Given the description of an element on the screen output the (x, y) to click on. 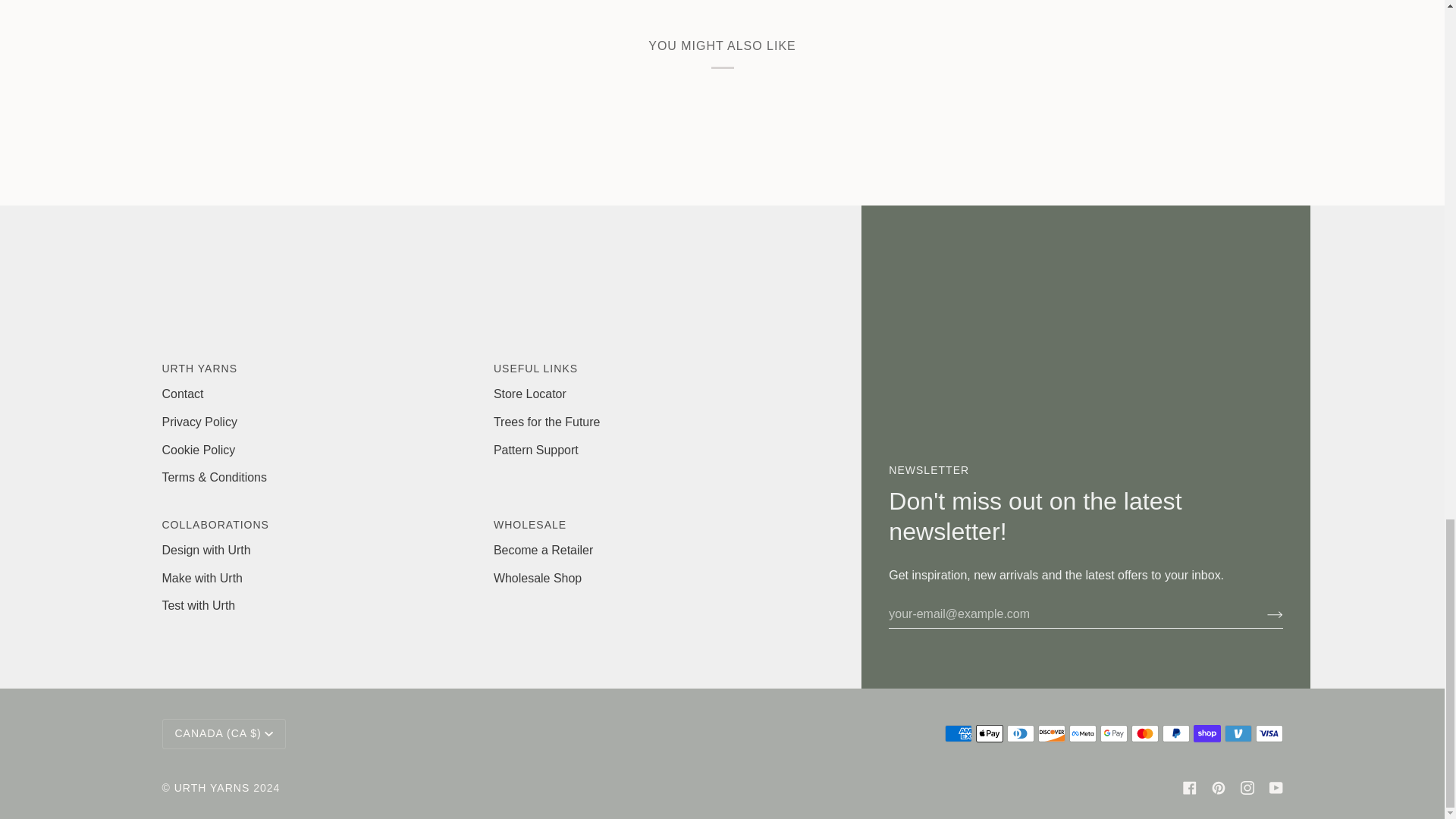
DISCOVER (1050, 733)
Instagram (1246, 787)
AMERICAN EXPRESS (958, 733)
Pinterest (1218, 787)
META PAY (1082, 733)
DINERS CLUB (1020, 733)
Facebook (1189, 787)
YouTube (1275, 787)
VENMO (1237, 733)
MASTERCARD (1144, 733)
